Given the description of an element on the screen output the (x, y) to click on. 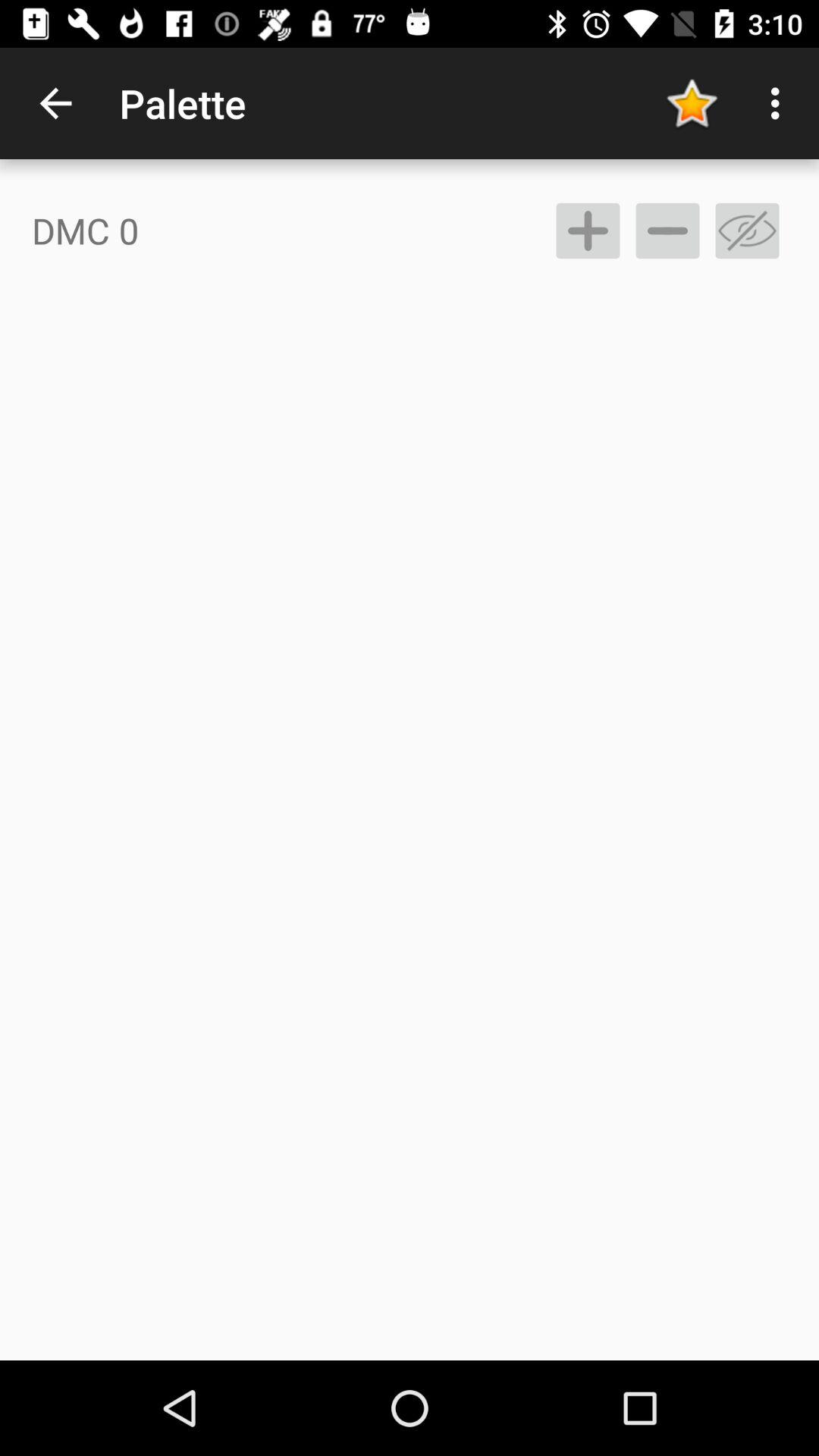
select item next to the palette app (691, 103)
